Given the description of an element on the screen output the (x, y) to click on. 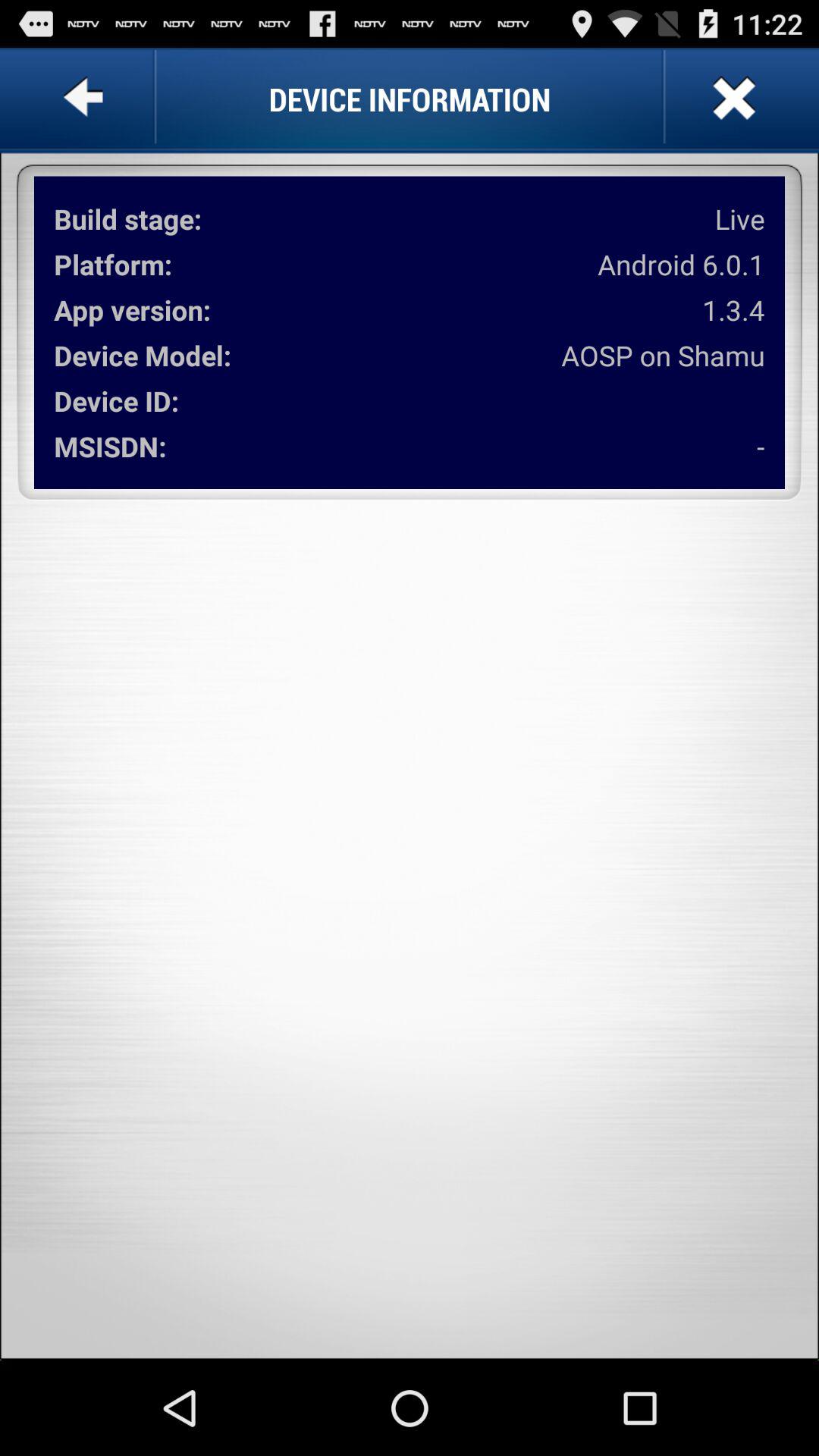
back (86, 99)
